Given the description of an element on the screen output the (x, y) to click on. 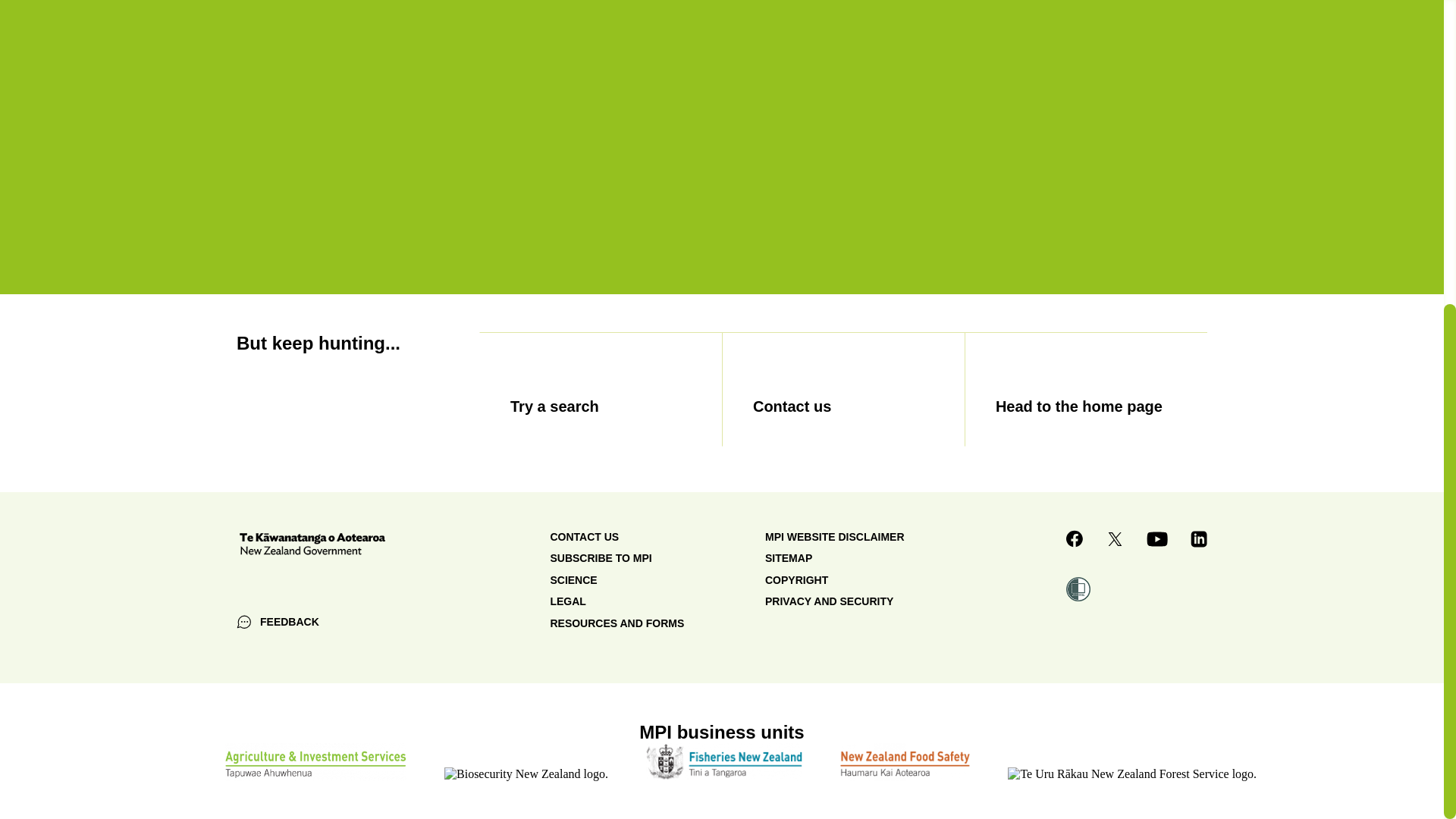
Home (1086, 388)
Search (601, 388)
Contact us (842, 388)
MPI YouTube page. (1157, 540)
The Shielded Site Project - Women's Refuge (1077, 589)
MPI Twitter page. (1115, 539)
